Given the description of an element on the screen output the (x, y) to click on. 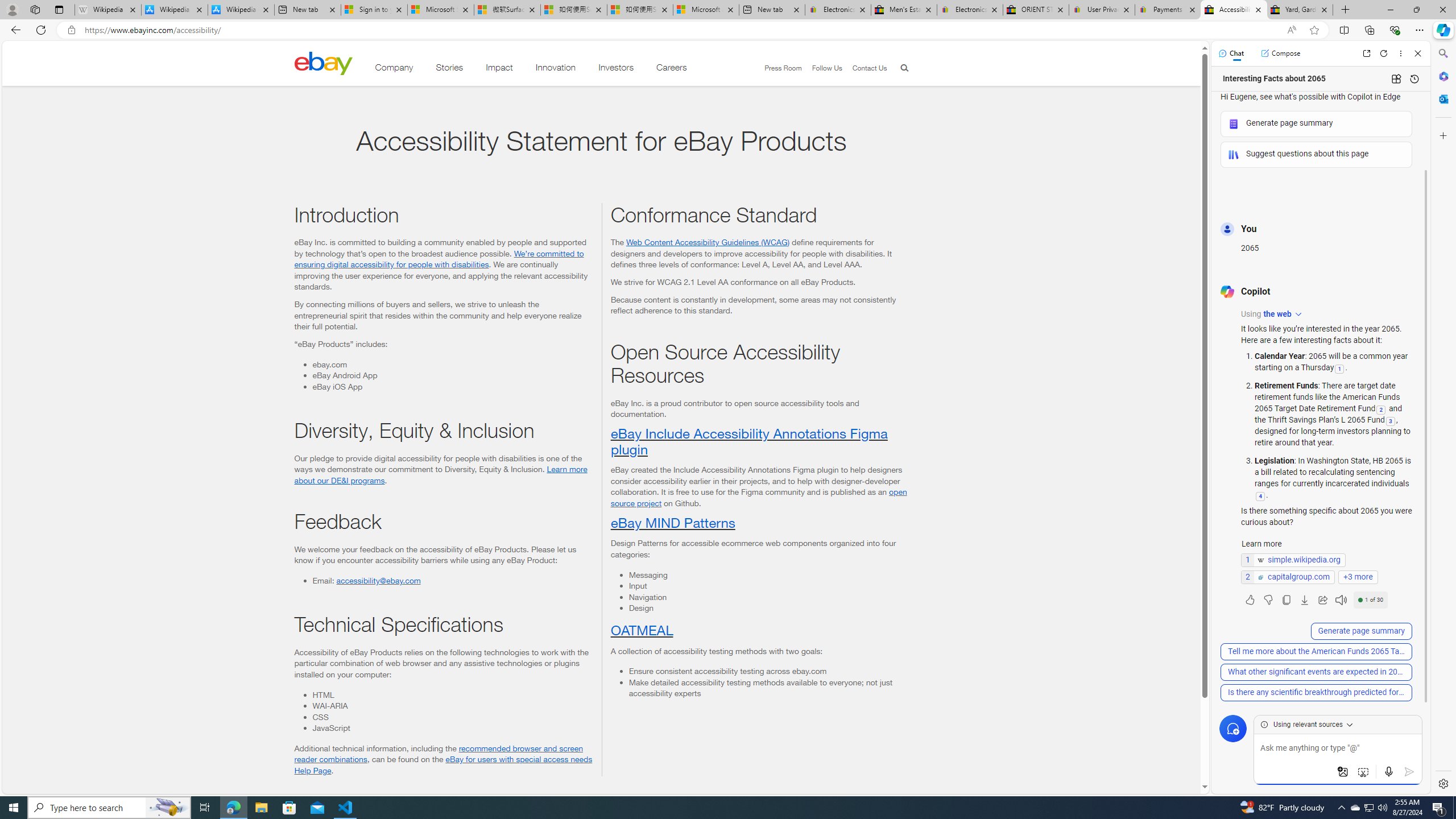
recommended browser and screen reader combinations (438, 753)
Input (768, 585)
Follow Us (821, 68)
WAI-ARIA (451, 705)
Messaging (768, 574)
Stories (449, 69)
